Given the description of an element on the screen output the (x, y) to click on. 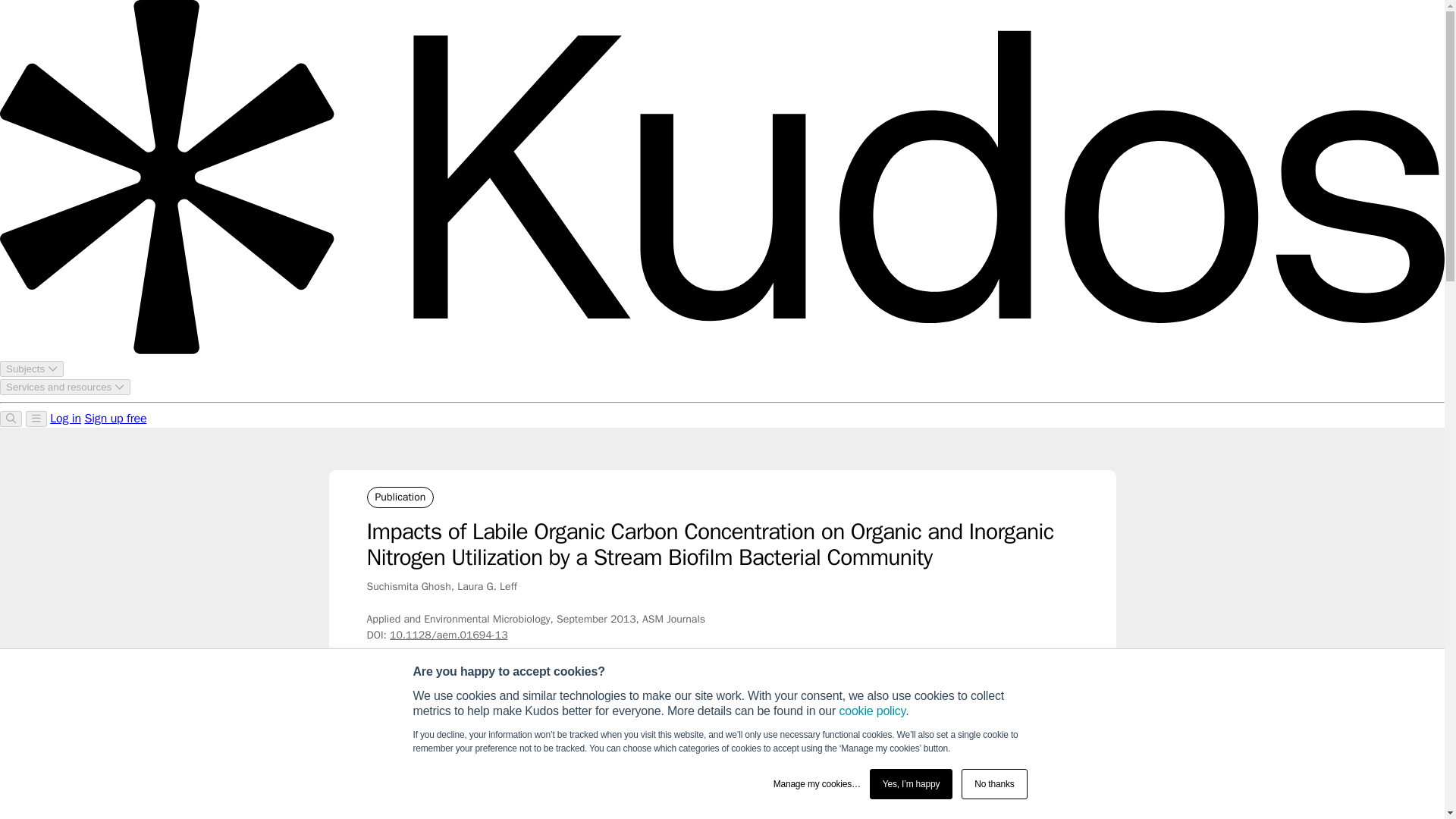
Showcases (433, 719)
Home (379, 719)
Read Article (997, 780)
No thanks (993, 784)
Applied and Environmental Microbiology (649, 719)
cookie policy (871, 710)
